Given the description of an element on the screen output the (x, y) to click on. 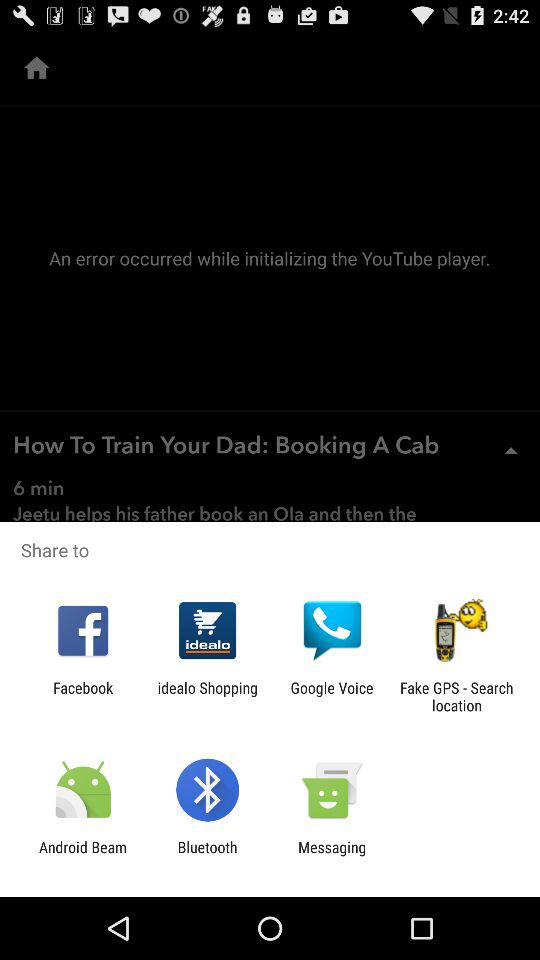
choose item to the left of idealo shopping app (83, 696)
